Given the description of an element on the screen output the (x, y) to click on. 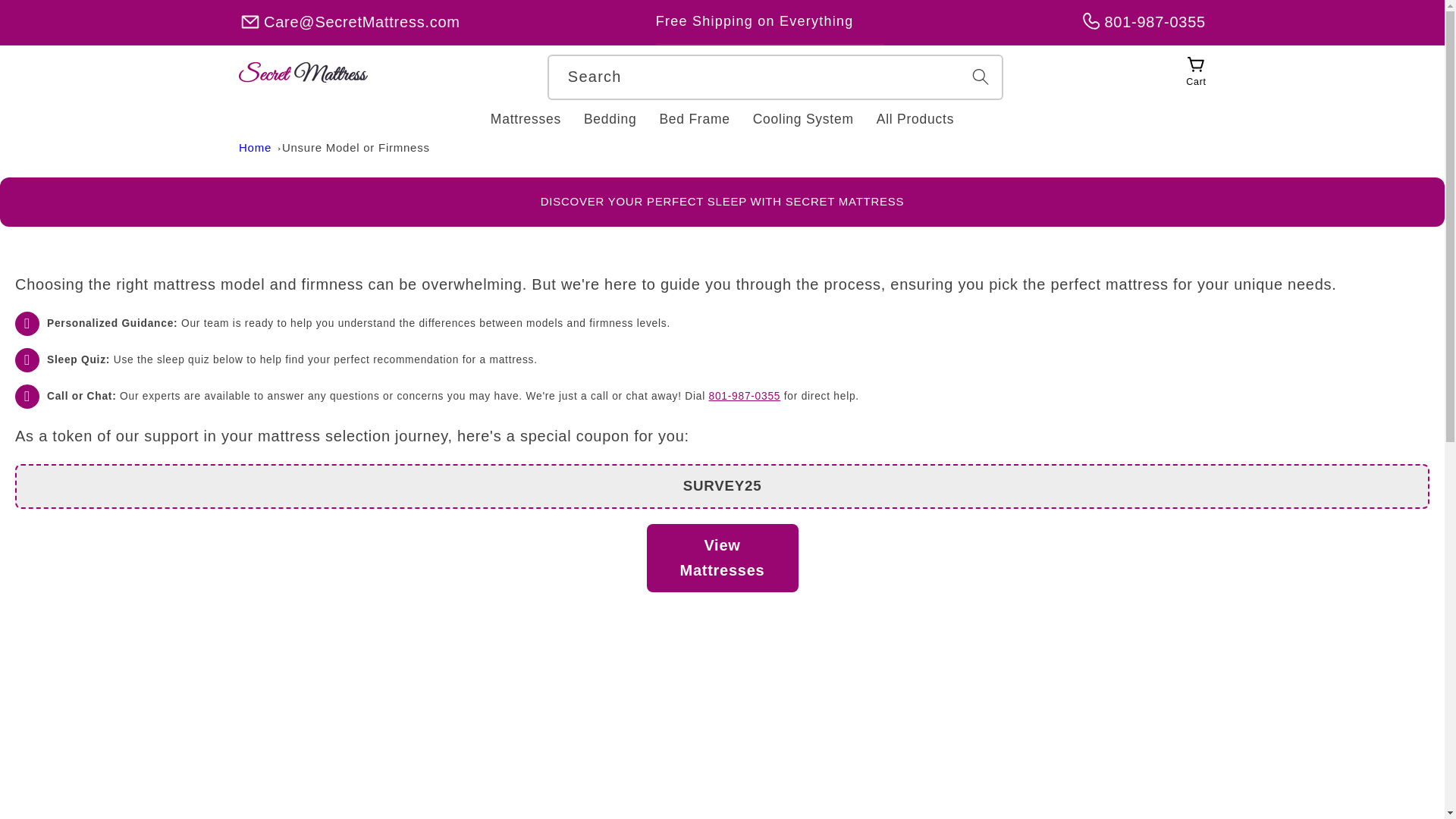
Free Shipping on Everything (769, 22)
Unsure Model or Firmness (355, 146)
801-987-0355 (744, 396)
View Mattresses (721, 558)
Cooling System (802, 119)
Mattresses (525, 119)
Bed Frame (694, 119)
All Products (914, 119)
Home (254, 146)
801-987-0355 (1141, 22)
